Given the description of an element on the screen output the (x, y) to click on. 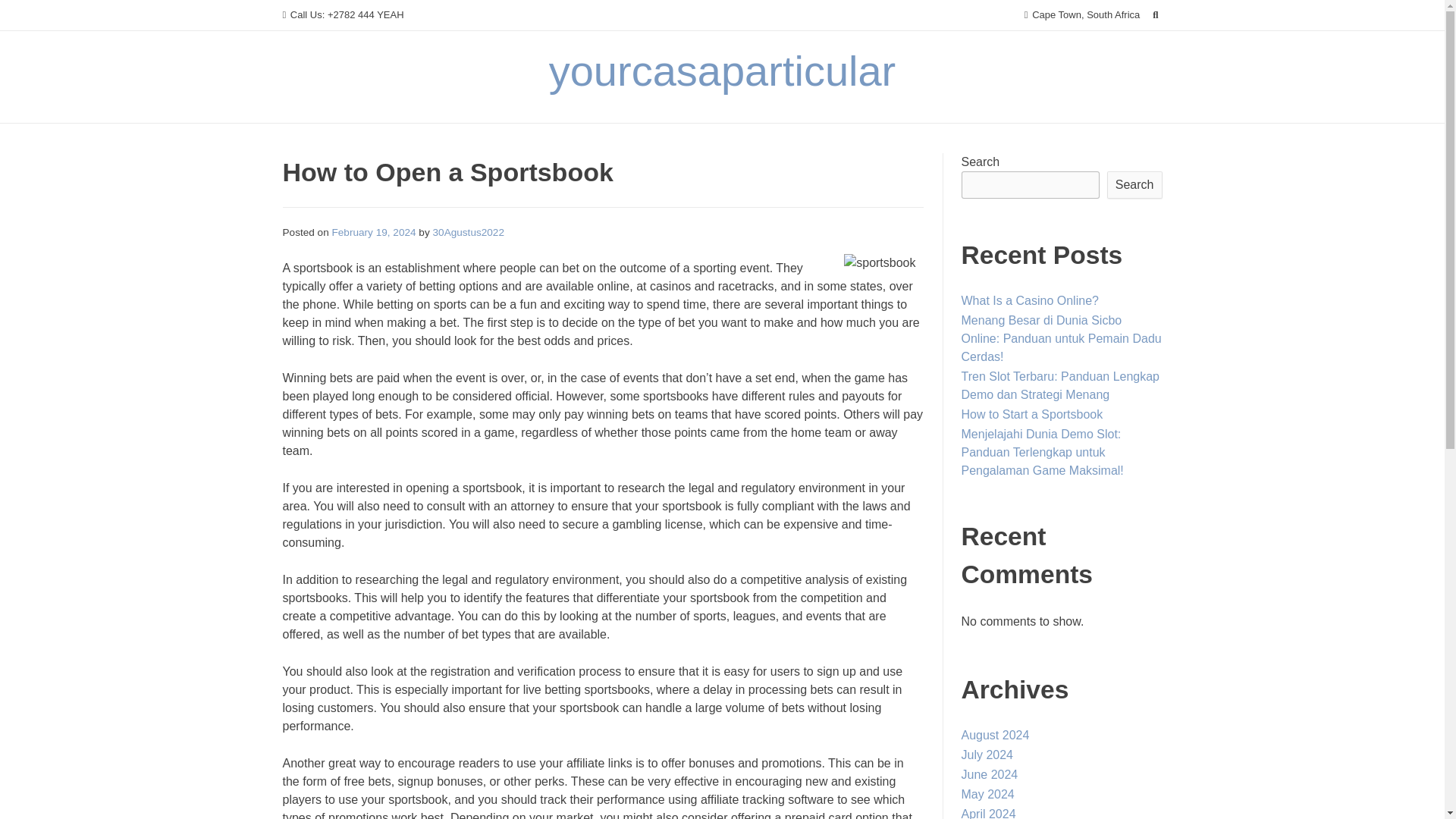
What Is a Casino Online? (1029, 300)
July 2024 (986, 754)
How to Start a Sportsbook (1031, 413)
May 2024 (987, 793)
Search (27, 13)
August 2024 (994, 735)
February 19, 2024 (373, 232)
30Agustus2022 (467, 232)
Search (1133, 185)
Tren Slot Terbaru: Panduan Lengkap Demo dan Strategi Menang (1060, 385)
June 2024 (988, 774)
April 2024 (988, 813)
yourcasaparticular (722, 70)
